Given the description of an element on the screen output the (x, y) to click on. 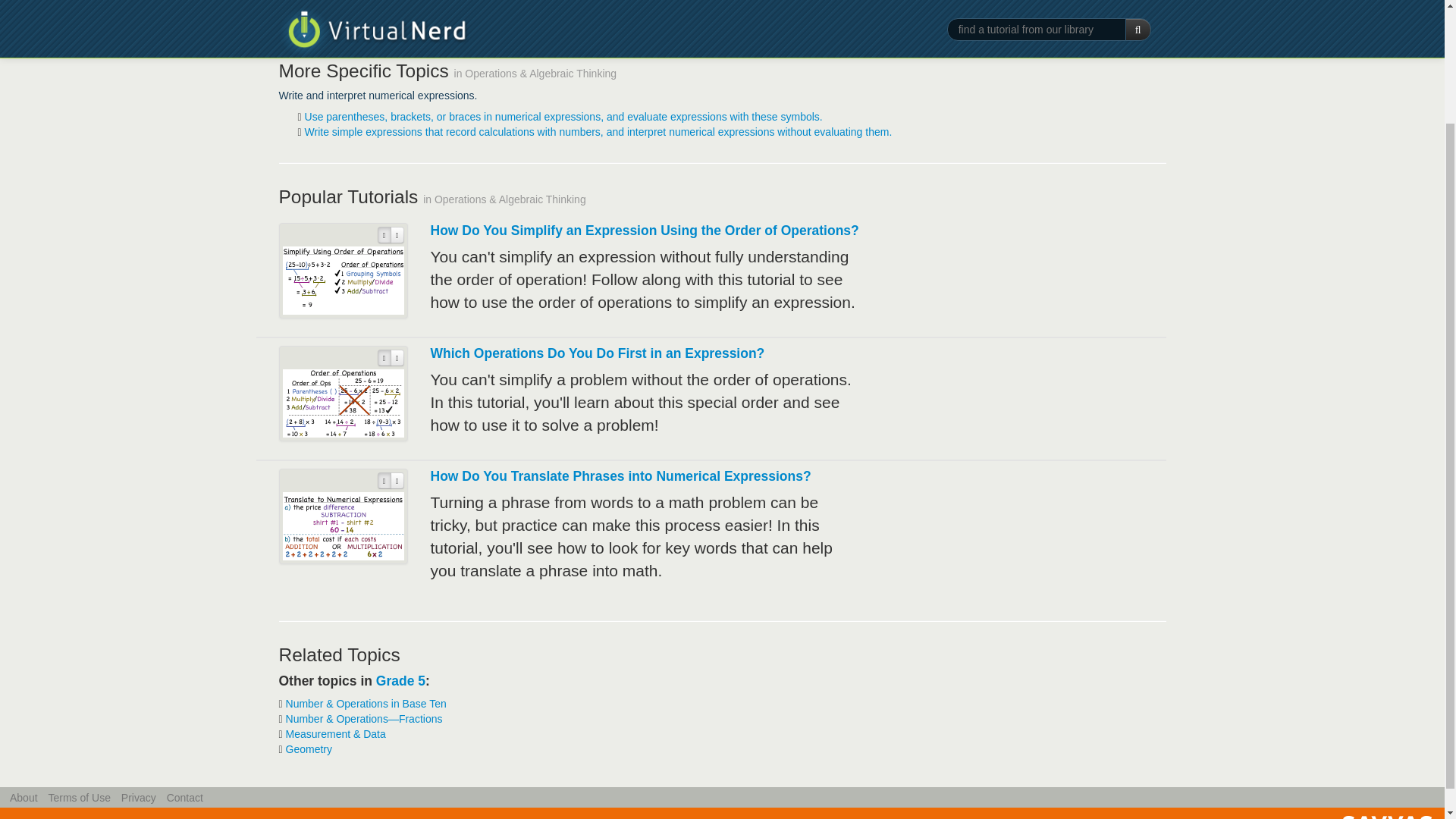
Terms of Use (79, 797)
Geometry (308, 748)
Privacy (137, 797)
Contact (185, 797)
Which Operations Do You Do First in an Expression? (597, 353)
How Do You Translate Phrases into Numerical Expressions? (620, 476)
About (23, 797)
